Given the description of an element on the screen output the (x, y) to click on. 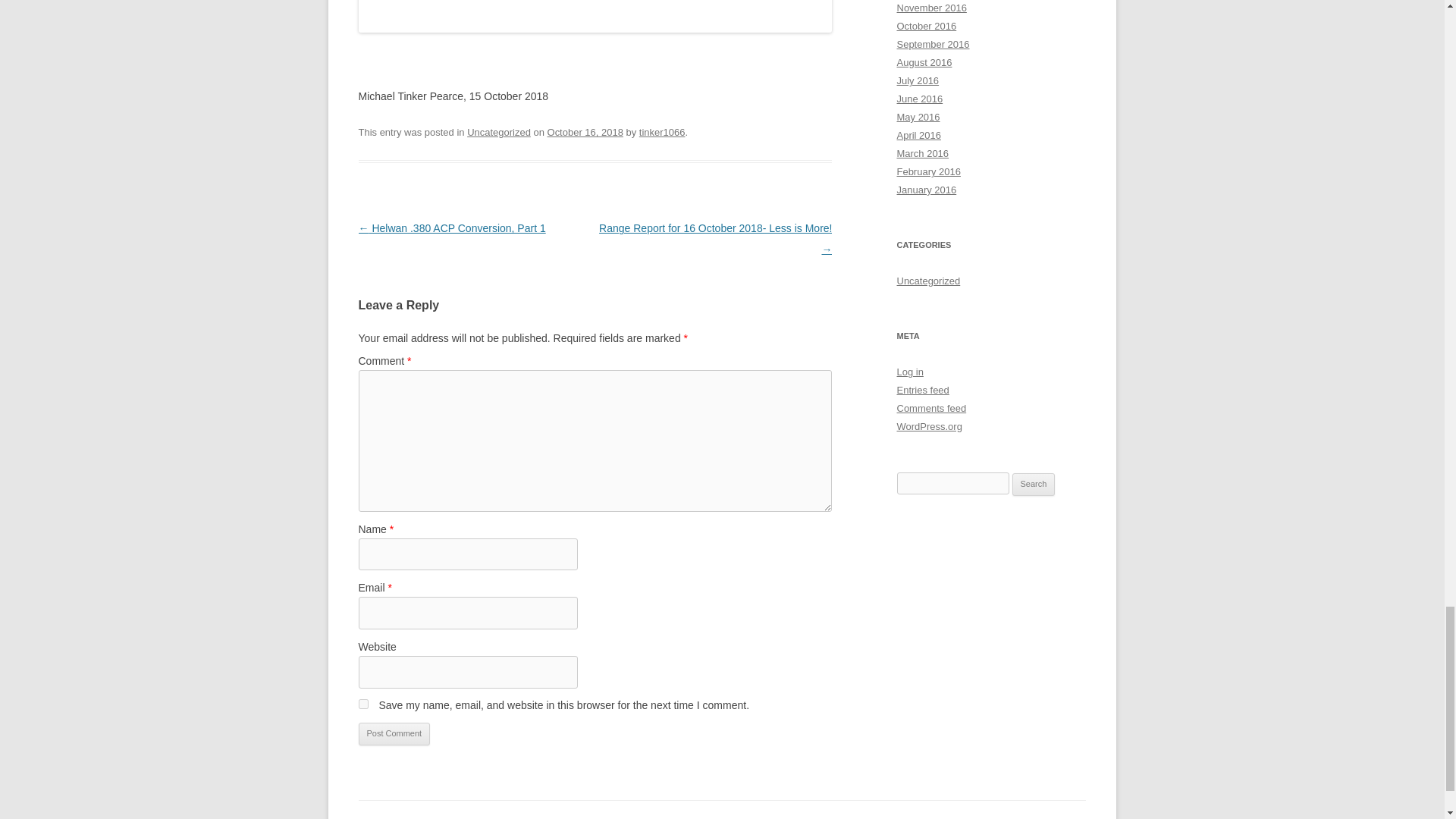
tinker1066 (662, 132)
Search (1033, 484)
October 16, 2018 (585, 132)
Post Comment (393, 733)
Post Comment (393, 733)
View all posts by tinker1066 (662, 132)
5:56 am (585, 132)
yes (363, 704)
Uncategorized (499, 132)
